Given the description of an element on the screen output the (x, y) to click on. 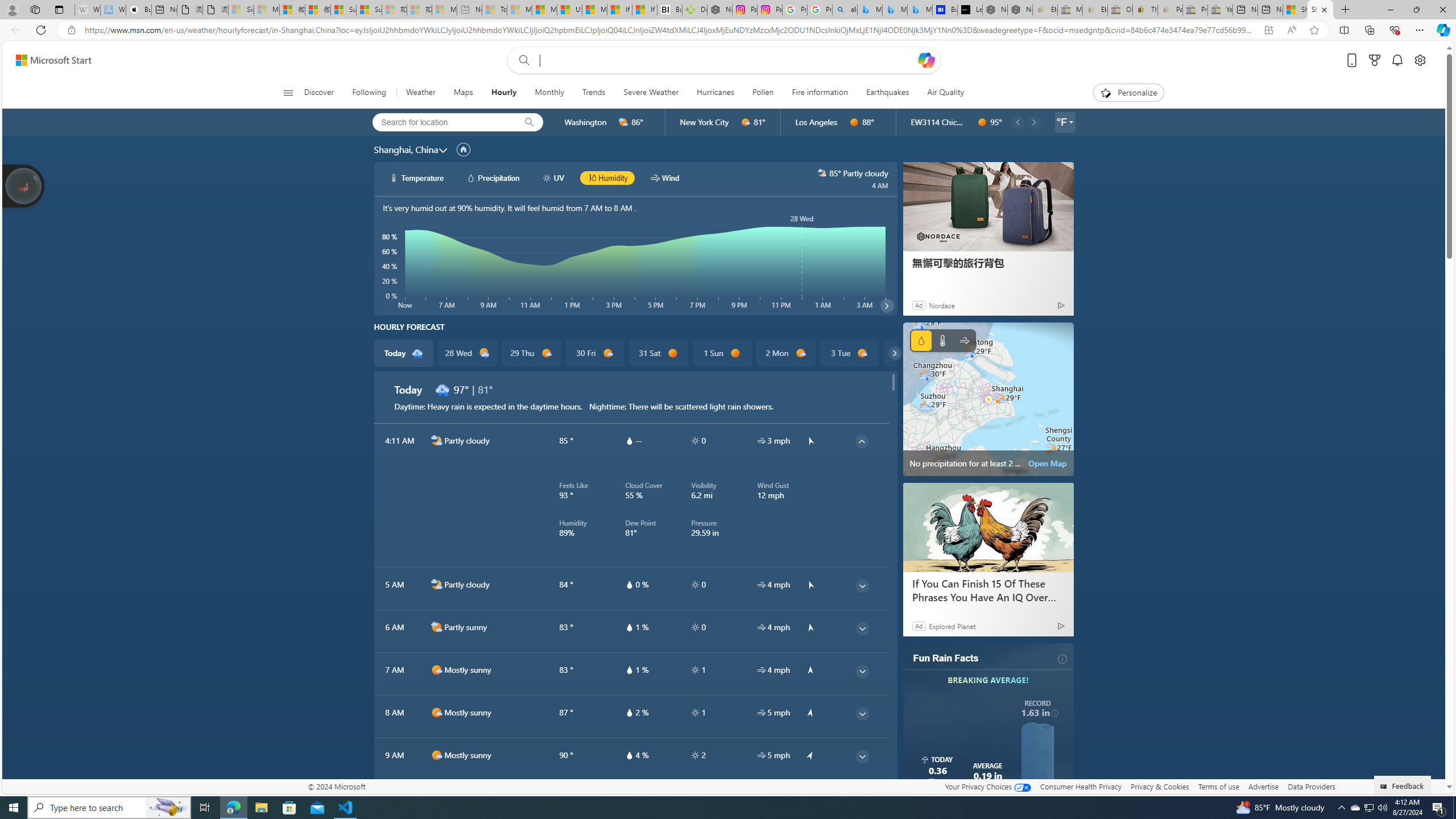
3 Tue d1000 (849, 352)
Payments Terms of Use | eBay.com - Sleeping (1170, 9)
Hurricanes (715, 92)
Maps (462, 92)
Monthly (549, 92)
29 Thu d1000 (530, 352)
Terms of use (1218, 786)
common/carouselChevron (895, 353)
Yard, Garden & Outdoor Living - Sleeping (1219, 9)
